Given the description of an element on the screen output the (x, y) to click on. 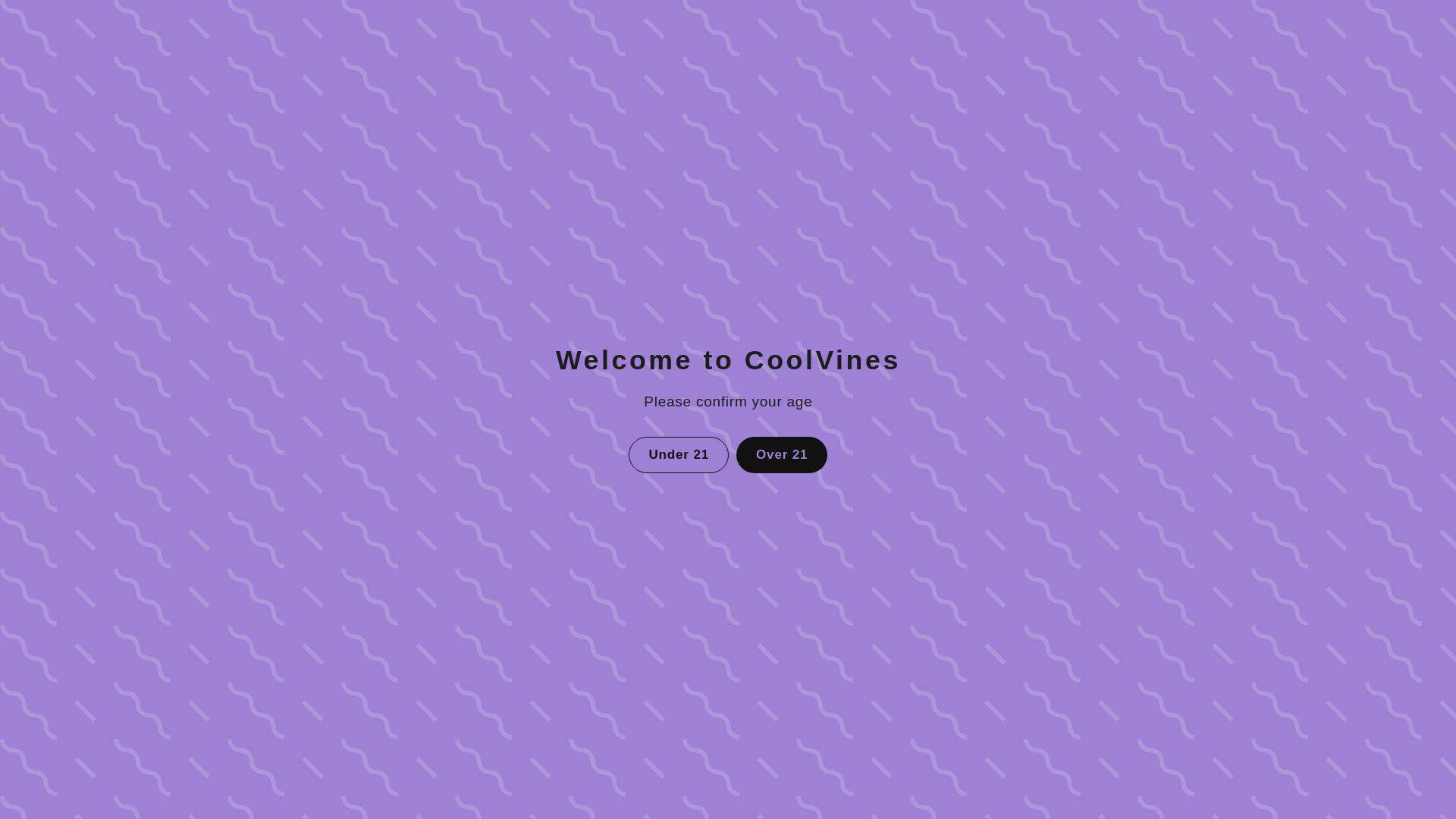
CoolVines on Instagram (655, 710)
instagram (655, 711)
Ask a question (727, 3)
instagram (655, 710)
